Given the description of an element on the screen output the (x, y) to click on. 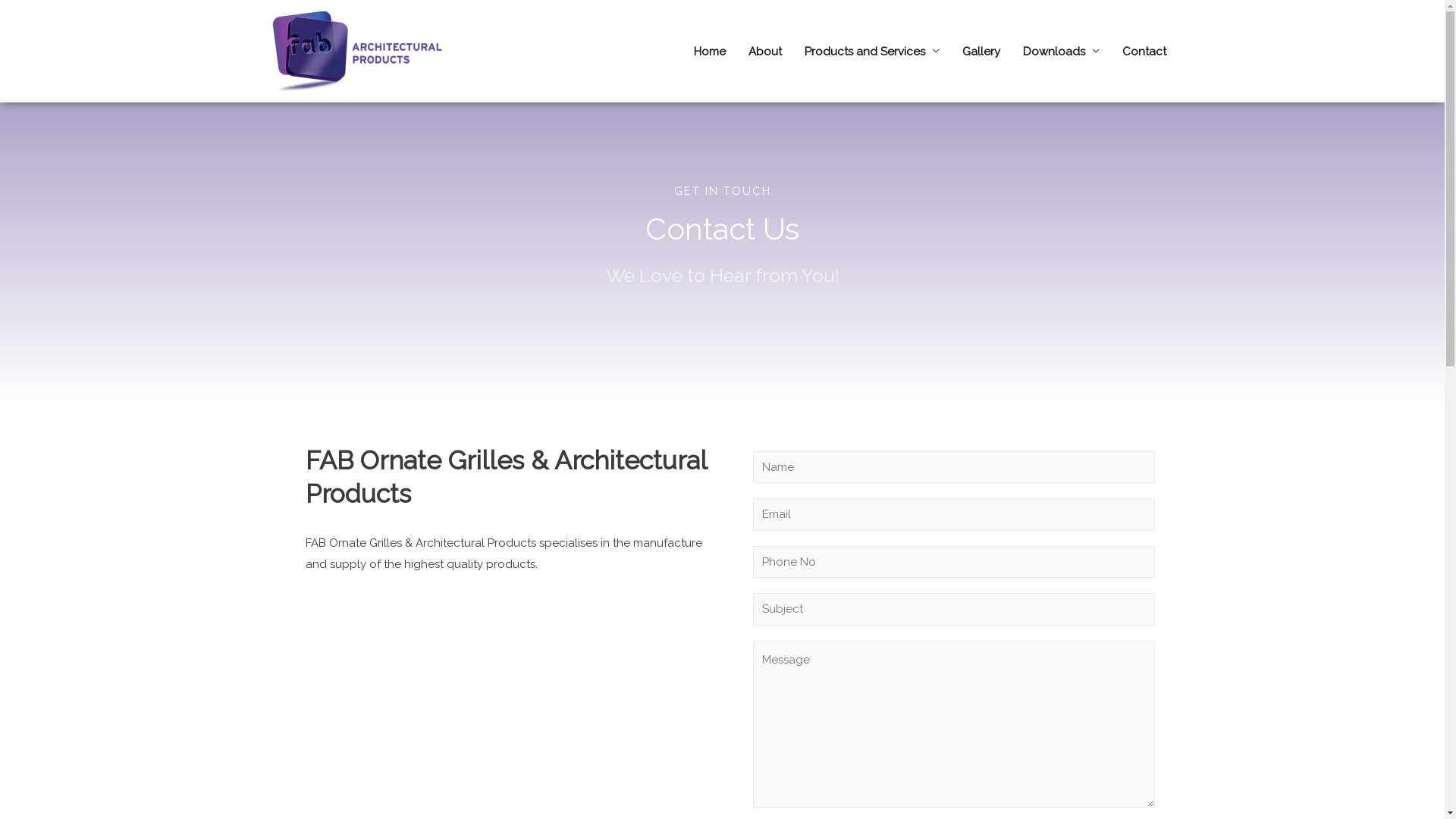
Downloads Element type: text (1060, 51)
Contact Element type: text (1143, 51)
About Element type: text (765, 51)
Gallery Element type: text (980, 51)
Home Element type: text (709, 51)
Products and Services Element type: text (871, 51)
